Given the description of an element on the screen output the (x, y) to click on. 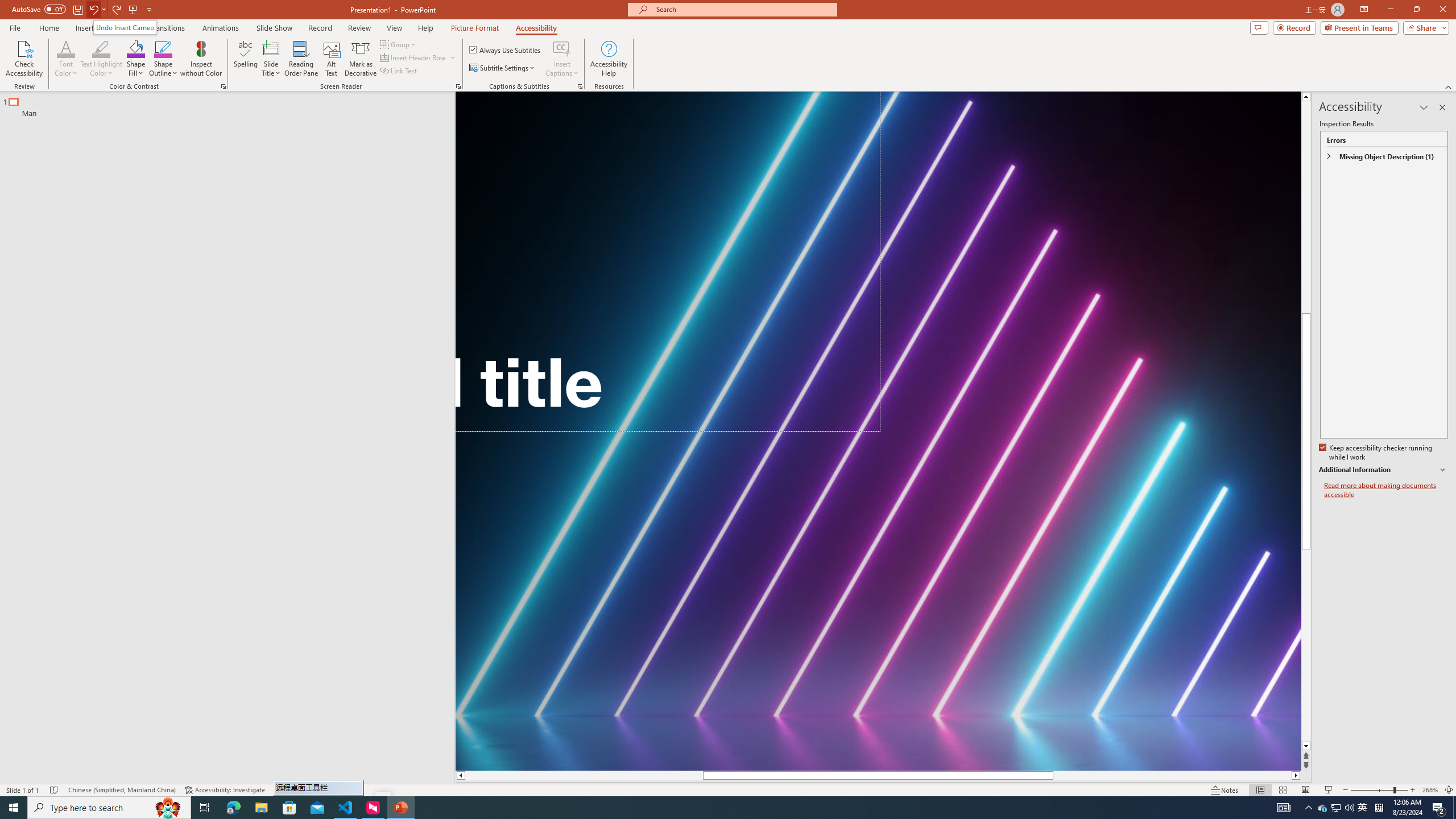
Reading Order Pane (301, 58)
